Given the description of an element on the screen output the (x, y) to click on. 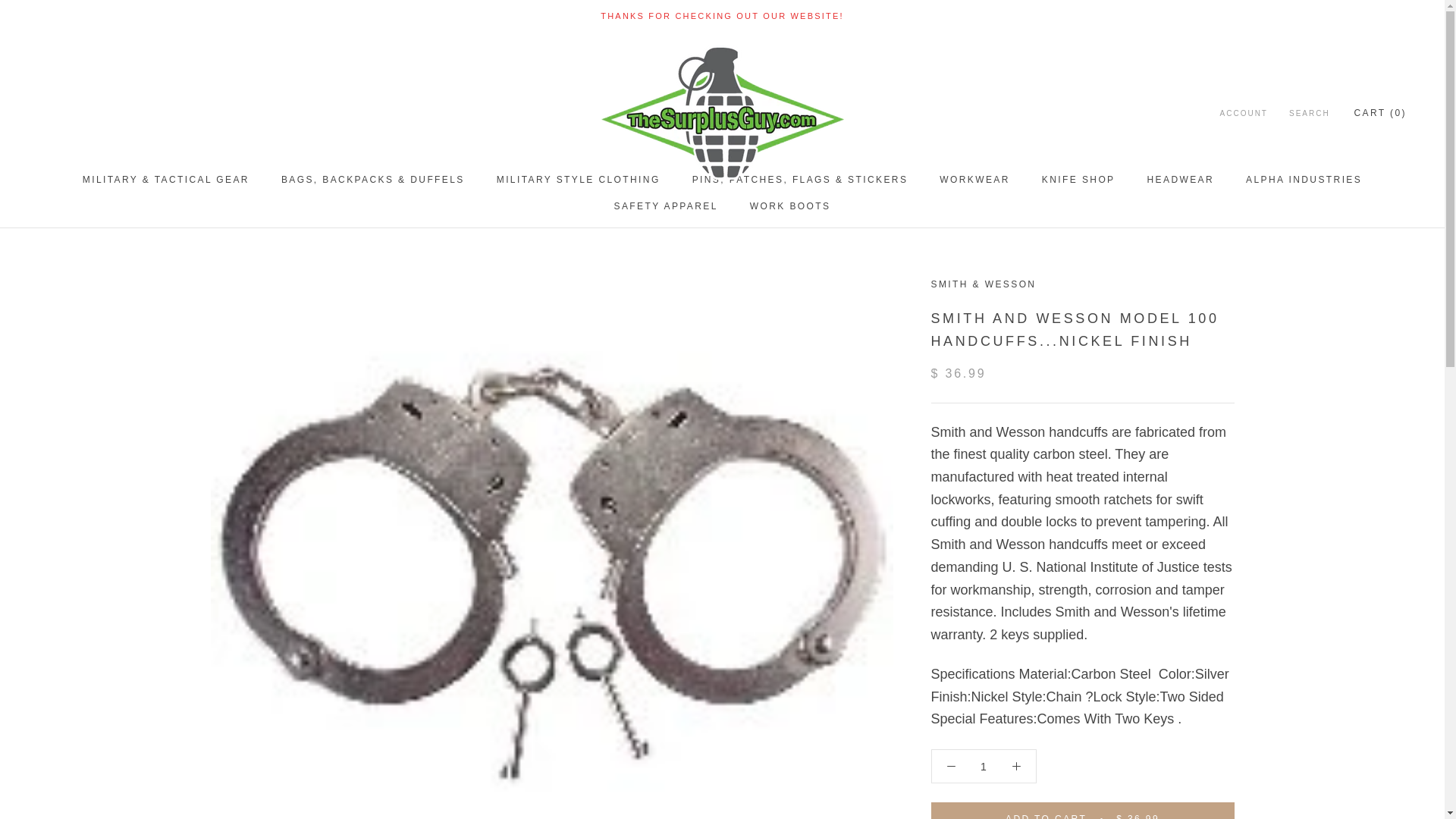
1 (984, 766)
